Given the description of an element on the screen output the (x, y) to click on. 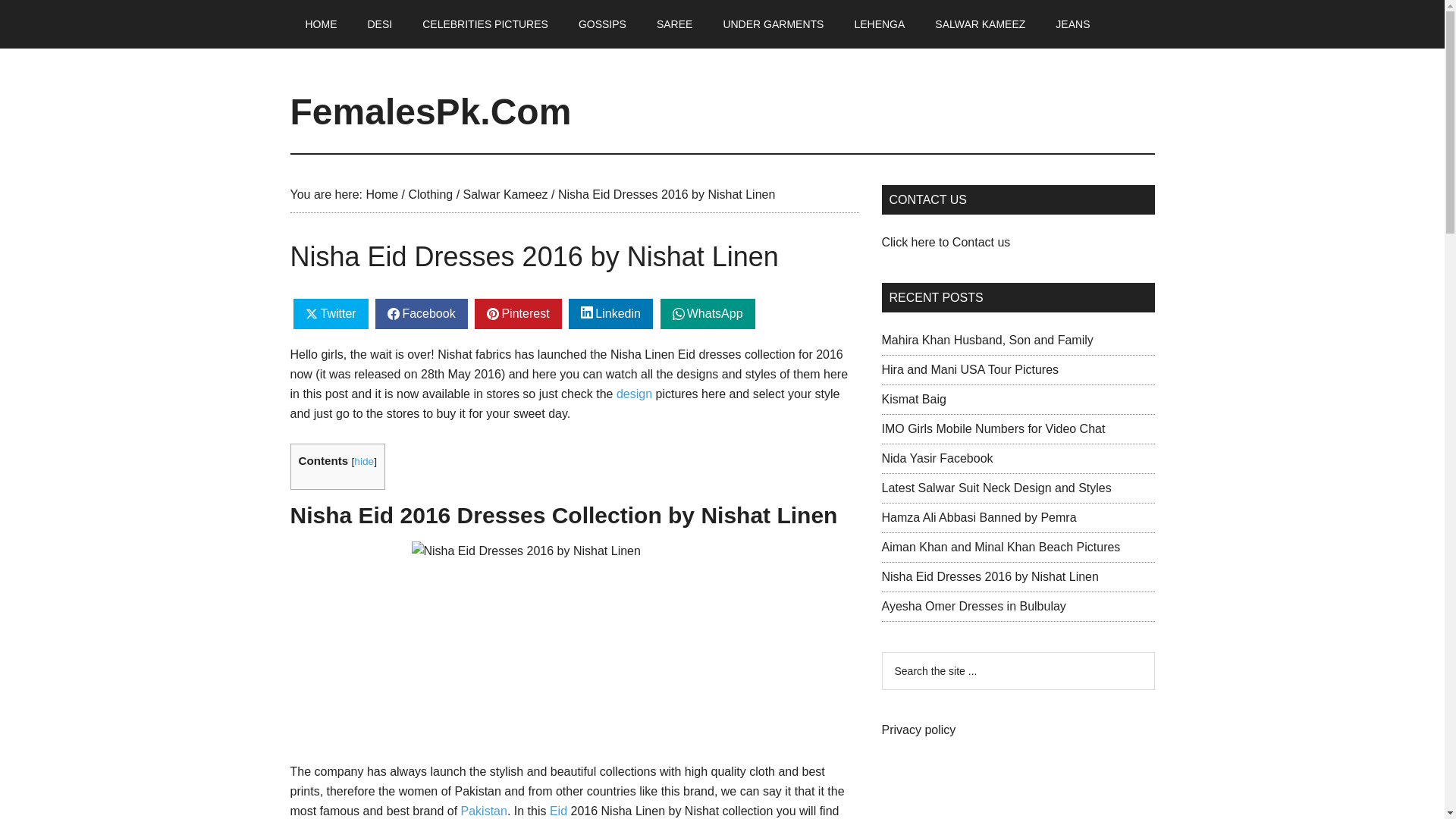
LEHENGA (879, 24)
FemalesPk.Com (429, 111)
design (633, 393)
Salwar Kameez (505, 194)
SAREE (674, 24)
hide (363, 460)
JEANS (1073, 24)
Pinterest (517, 313)
Home (381, 194)
Eid (558, 810)
